Given the description of an element on the screen output the (x, y) to click on. 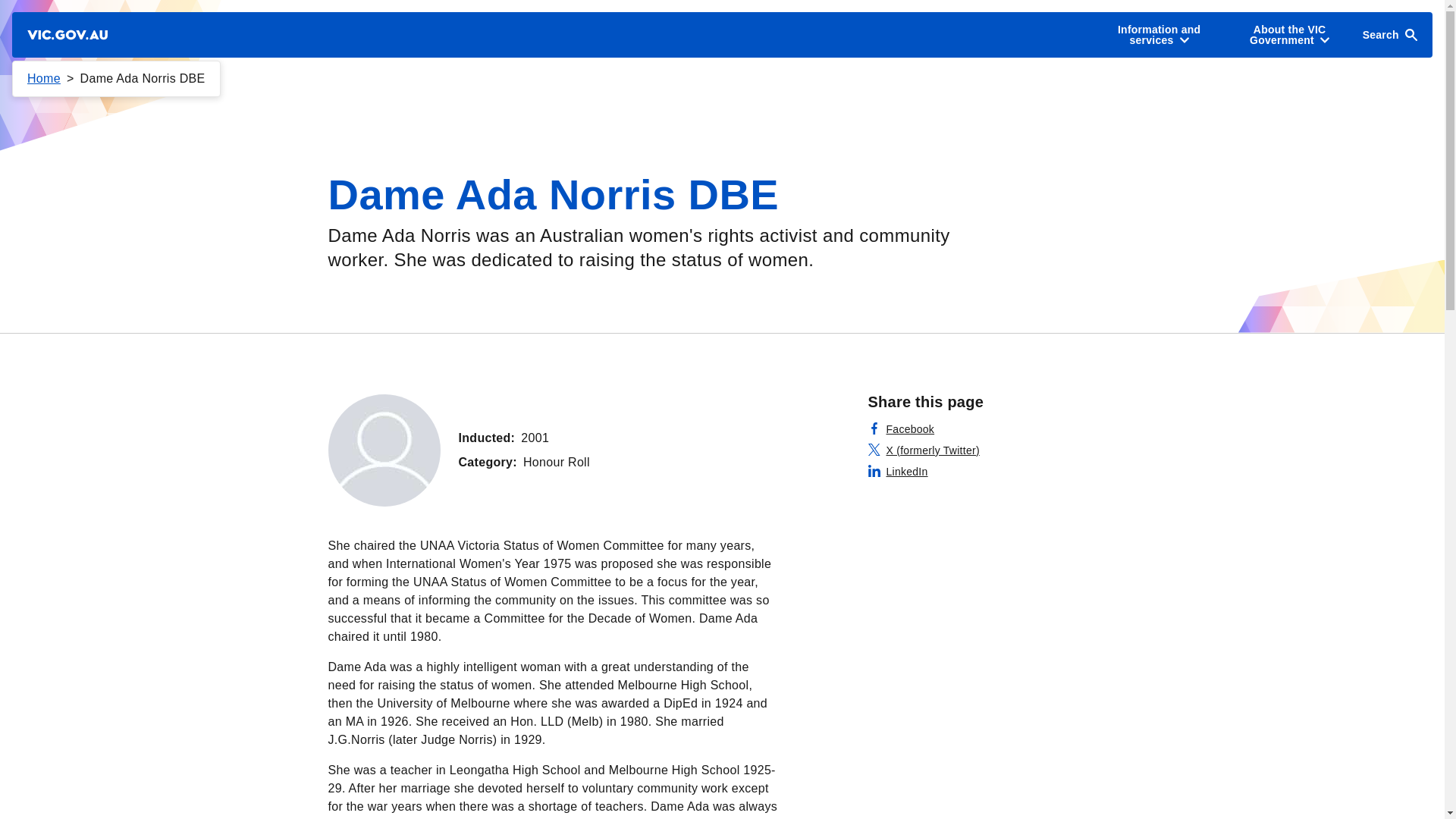
"" (383, 449)
LinkedIn (897, 471)
Facebook (900, 428)
Home (44, 78)
